Given the description of an element on the screen output the (x, y) to click on. 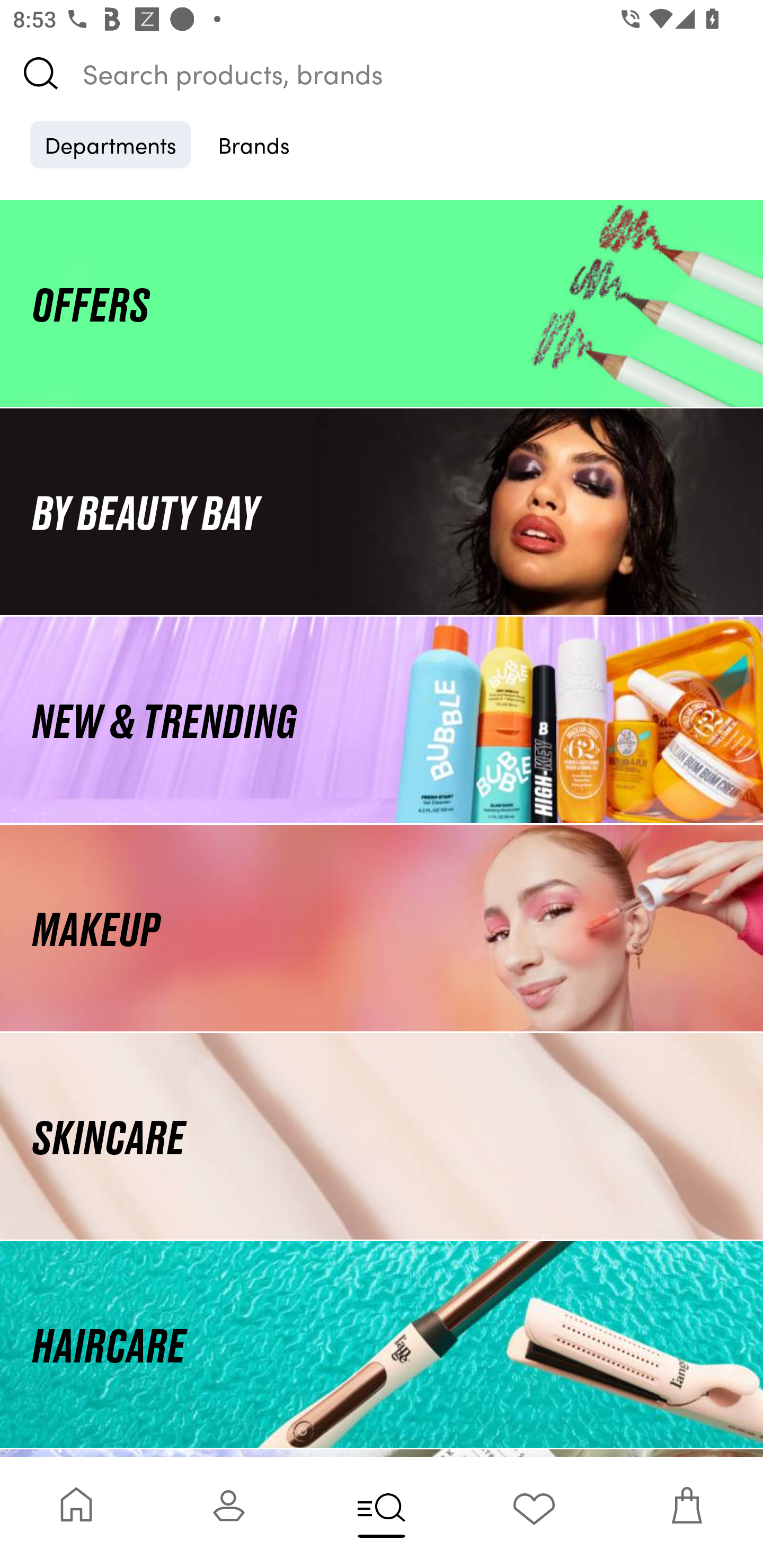
Search products, brands (381, 72)
Departments (110, 143)
Brands (253, 143)
OFFERS (381, 303)
BY BEAUTY BAY (381, 510)
NEW & TRENDING (381, 719)
MAKEUP (381, 927)
SKINCARE (381, 1136)
HAIRCARE (381, 1344)
